Given the description of an element on the screen output the (x, y) to click on. 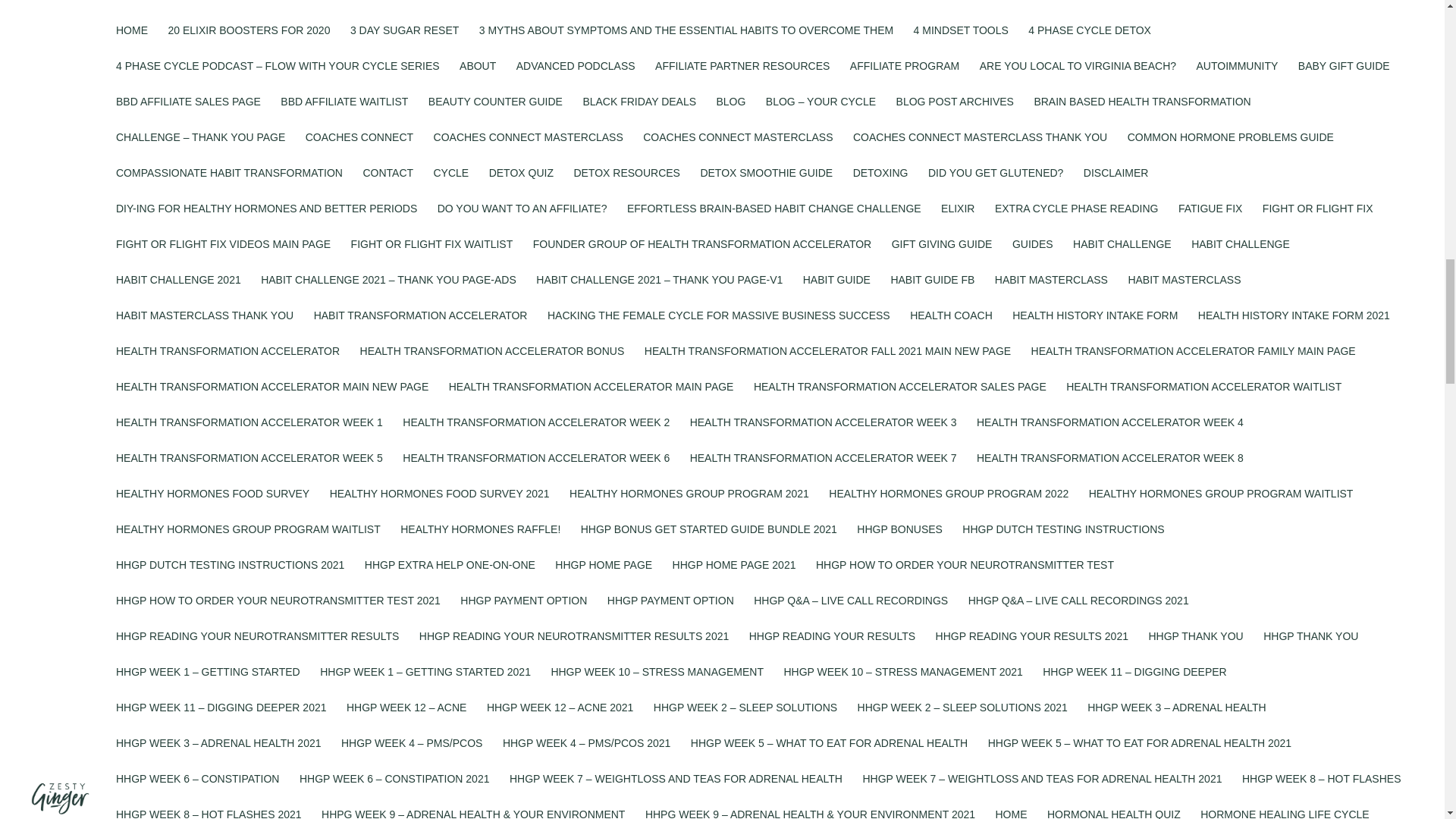
Posts by HealthyGingerAdmin (375, 10)
